Given the description of an element on the screen output the (x, y) to click on. 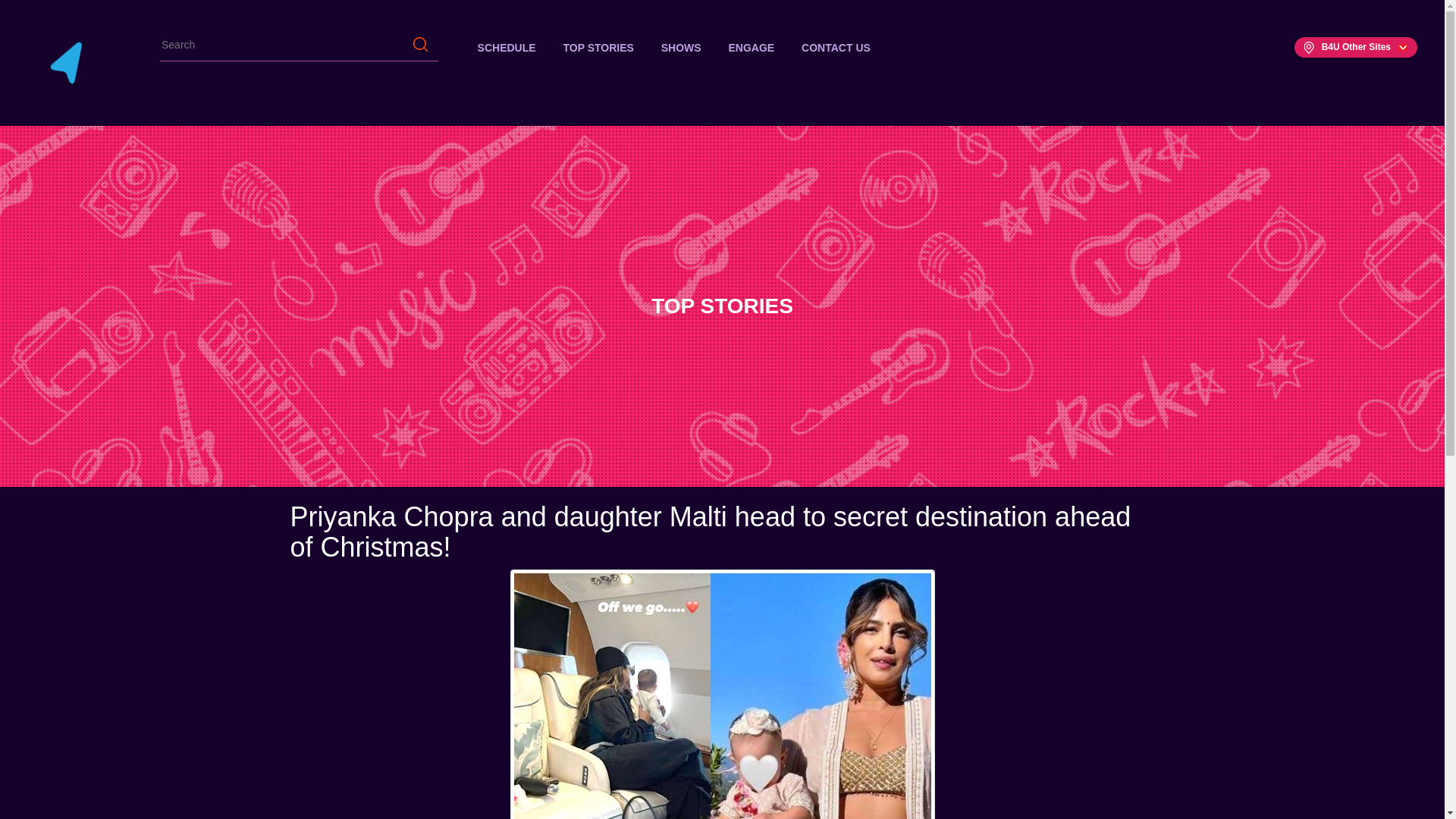
SHOWS (681, 47)
TOP STORIES (597, 47)
CONTACT US (835, 47)
SCHEDULE (506, 47)
ENGAGE (751, 47)
  B4U Other Sites   (1355, 46)
